Given the description of an element on the screen output the (x, y) to click on. 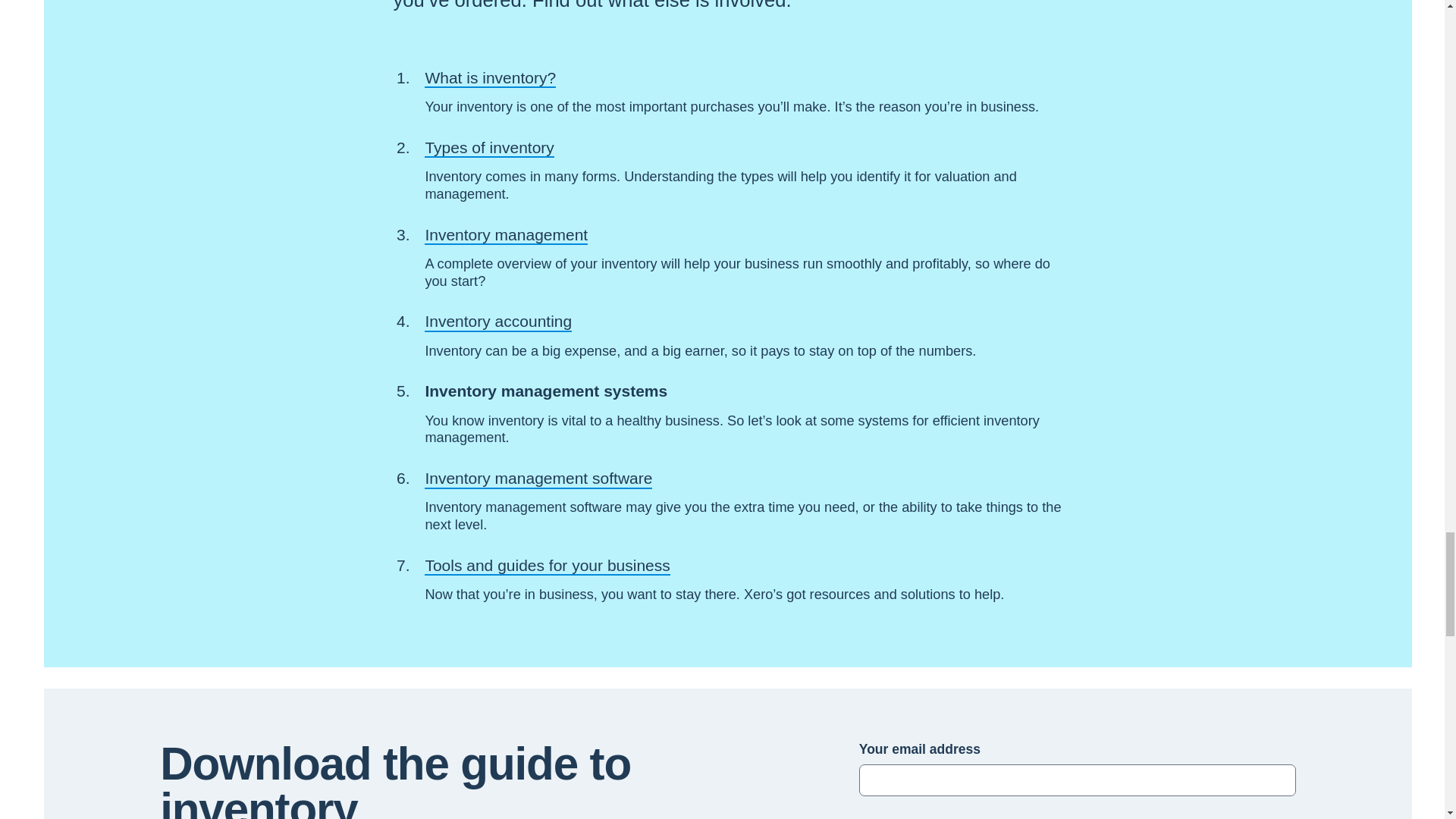
Inventory management systems (545, 390)
What is inventory? (490, 77)
Types of inventory (489, 147)
Inventory accounting (498, 321)
Inventory management (506, 234)
Tools and guides for your business (547, 565)
Inventory management software (538, 477)
